Given the description of an element on the screen output the (x, y) to click on. 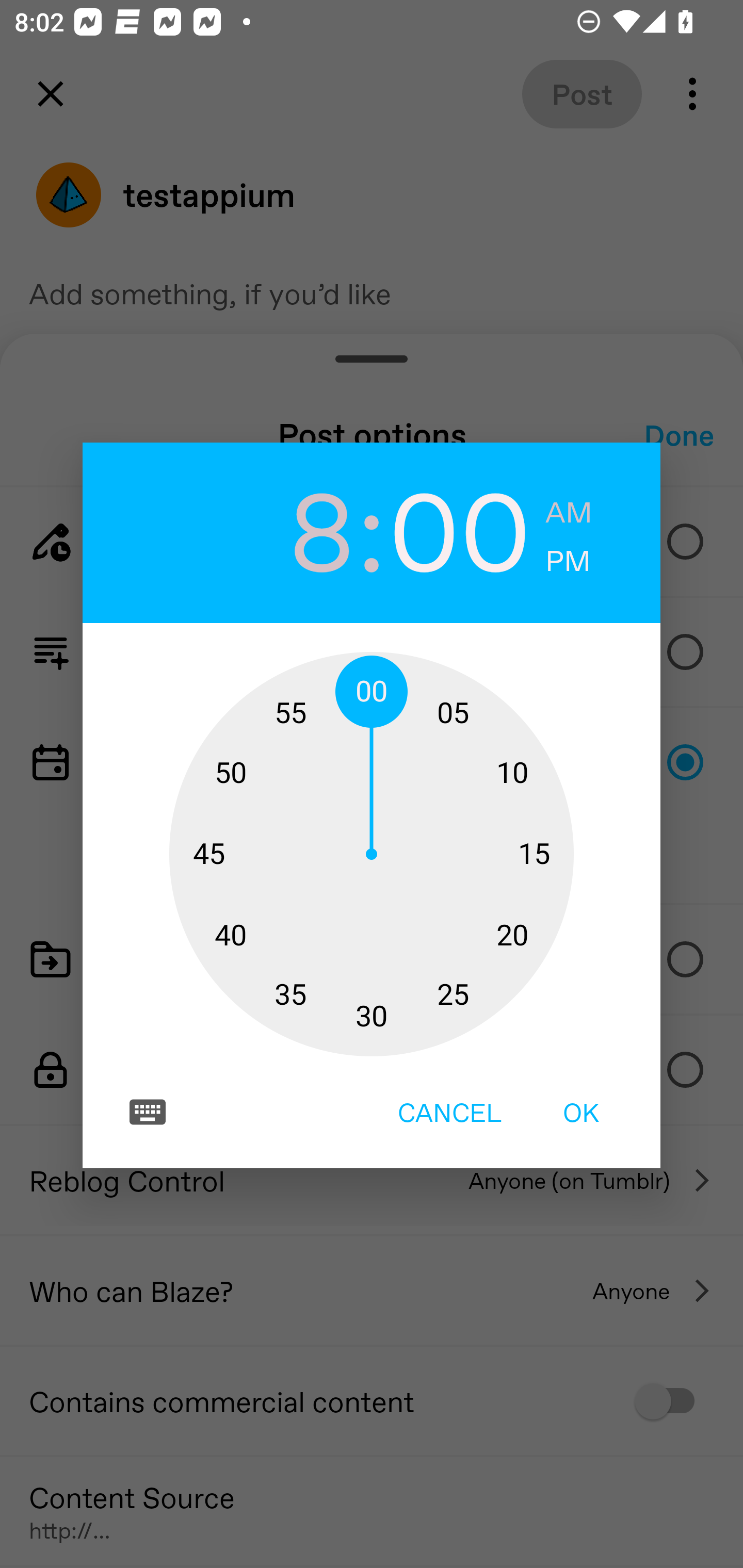
8 (282, 528)
00 (459, 528)
AM (568, 512)
PM (567, 560)
CANCEL (449, 1111)
OK (580, 1111)
Switch to text input mode for the time input. (147, 1112)
